Given the description of an element on the screen output the (x, y) to click on. 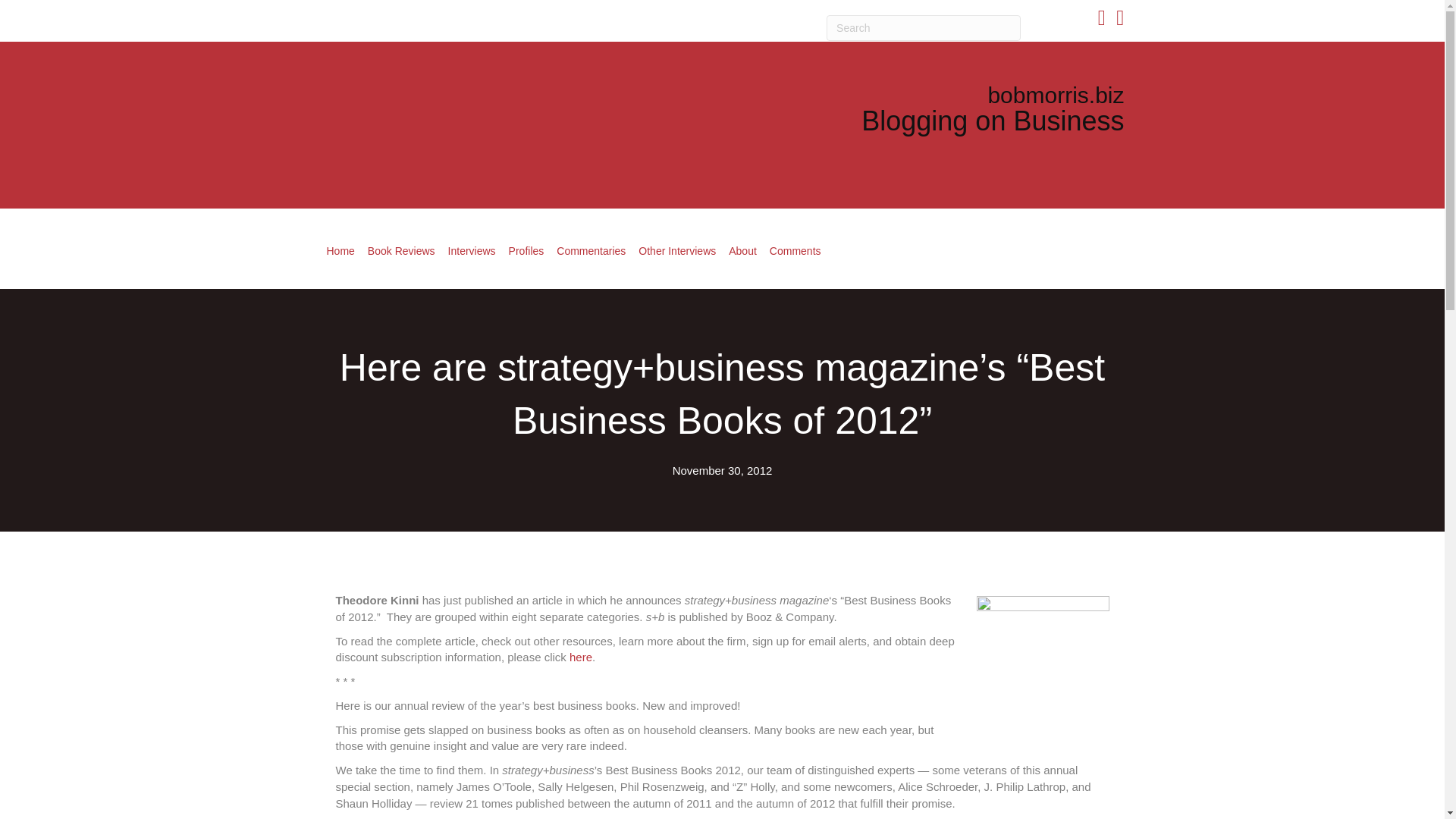
bobmorris.biz (1055, 94)
Comments (794, 250)
Blogging on Business (992, 120)
Book Reviews (401, 250)
Type and press Enter to search. (923, 27)
Profiles (526, 250)
Interviews (472, 250)
Commentaries (590, 250)
Blogging on Business (992, 120)
About (742, 250)
Home (339, 250)
Other Interviews (676, 250)
here (580, 656)
bobmorris.biz (1055, 94)
